Given the description of an element on the screen output the (x, y) to click on. 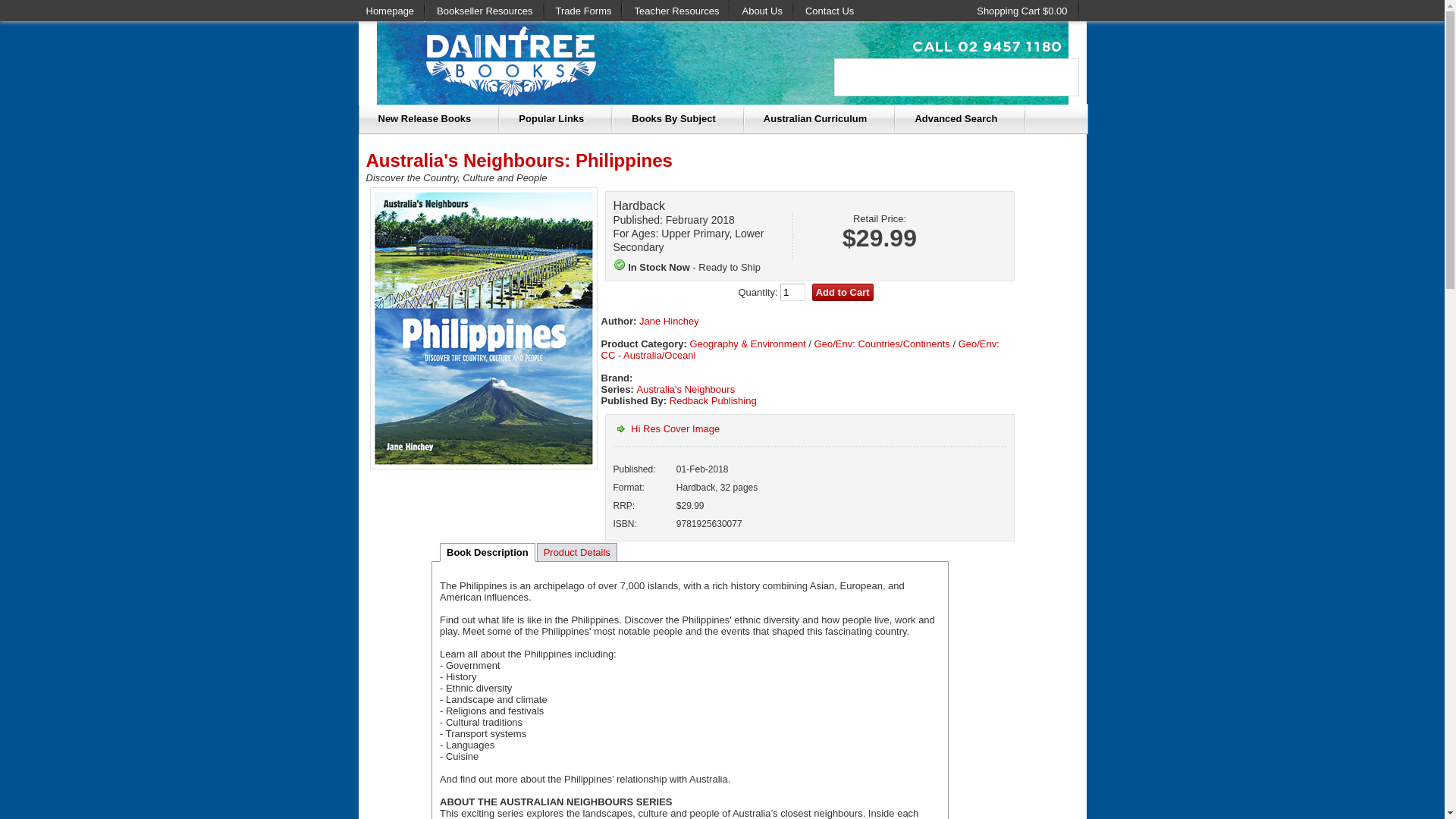
Trade Forms Element type: text (583, 10)
Contact Us Element type: text (829, 10)
Popular Links Element type: text (555, 118)
Geography & Environment Element type: text (748, 343)
Redback Publishing Element type: text (712, 400)
Bookseller Resources Element type: text (484, 10)
Homepage Element type: text (389, 10)
Jane Hinchey Element type: text (669, 320)
Add to Cart Element type: text (842, 292)
Teacher Resources Element type: text (675, 10)
About Us Element type: text (761, 10)
Books By Subject Element type: text (678, 118)
Australia's Neighbours Element type: text (685, 389)
Advanced Search Element type: text (960, 118)
Product Details Element type: text (576, 551)
Geo/Env: Countries/Continents Element type: text (882, 343)
Australian Curriculum Element type: text (820, 118)
Shopping Cart $0.00 Element type: text (1021, 10)
Book Description Element type: text (487, 551)
New Release Books Element type: text (429, 118)
Geo/Env: CC - Australia/Oceani Element type: text (799, 349)
Daintree Books Homepage Element type: hover (721, 100)
Hi Res Cover Image Element type: text (665, 428)
